Given the description of an element on the screen output the (x, y) to click on. 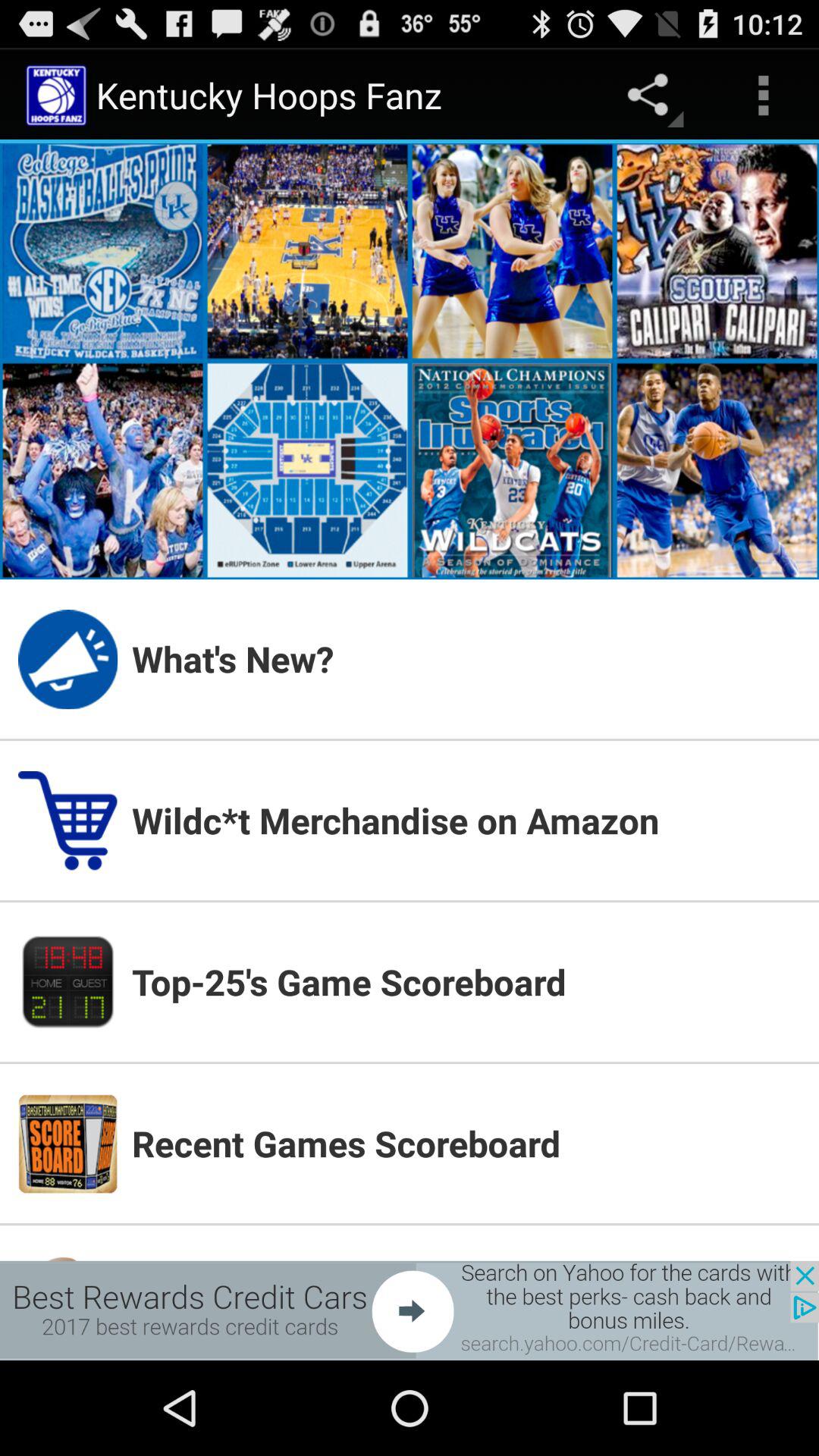
open advertisement (409, 1310)
